Given the description of an element on the screen output the (x, y) to click on. 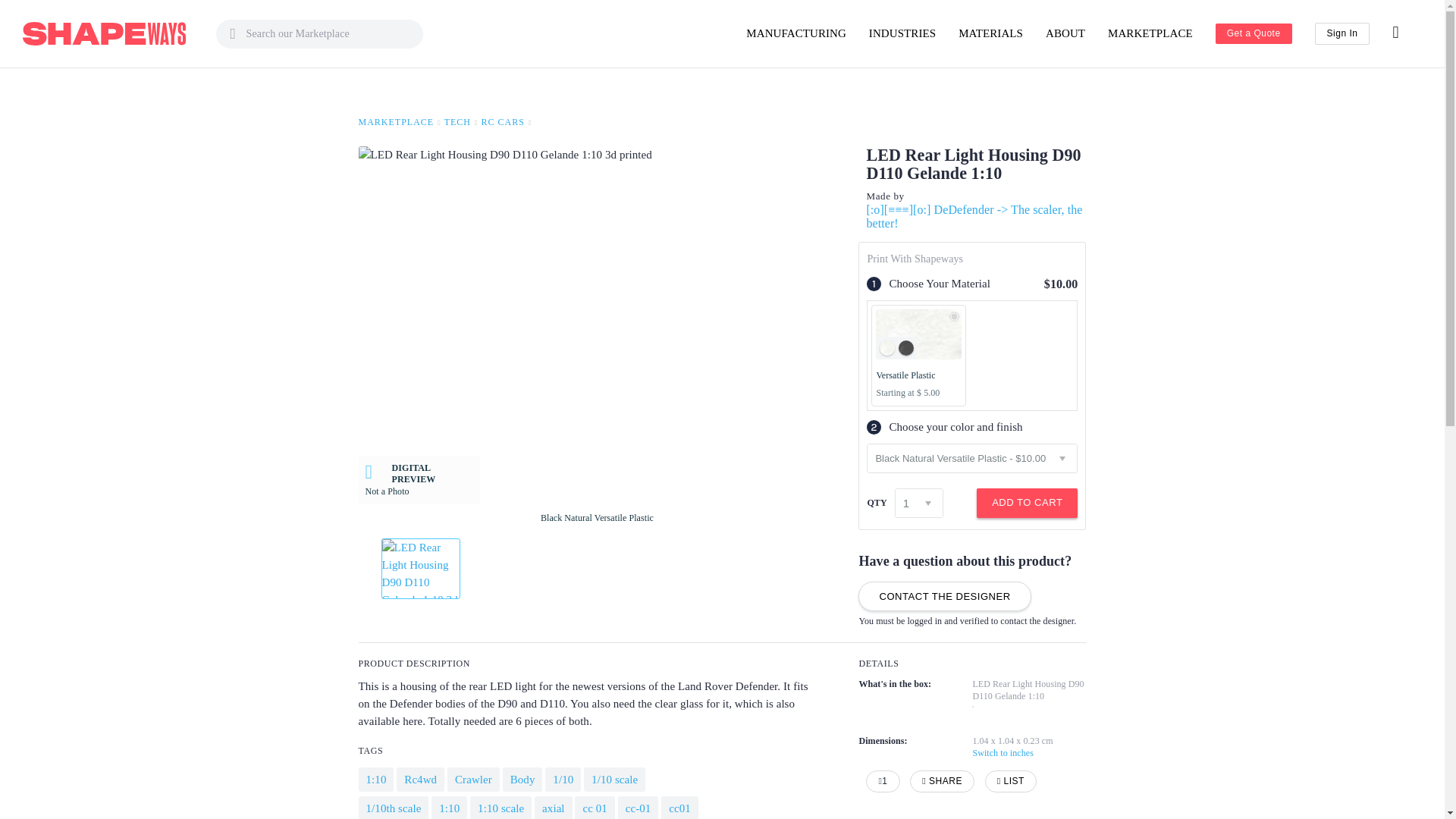
Versatile Plastic (954, 316)
Versatile Plastic (918, 355)
quantity (918, 502)
